Given the description of an element on the screen output the (x, y) to click on. 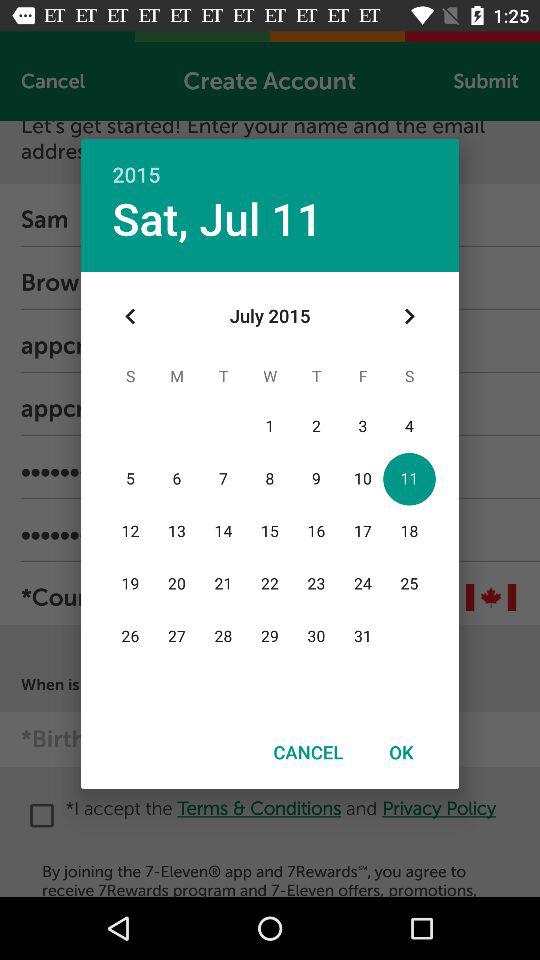
turn off item at the bottom right corner (401, 751)
